Given the description of an element on the screen output the (x, y) to click on. 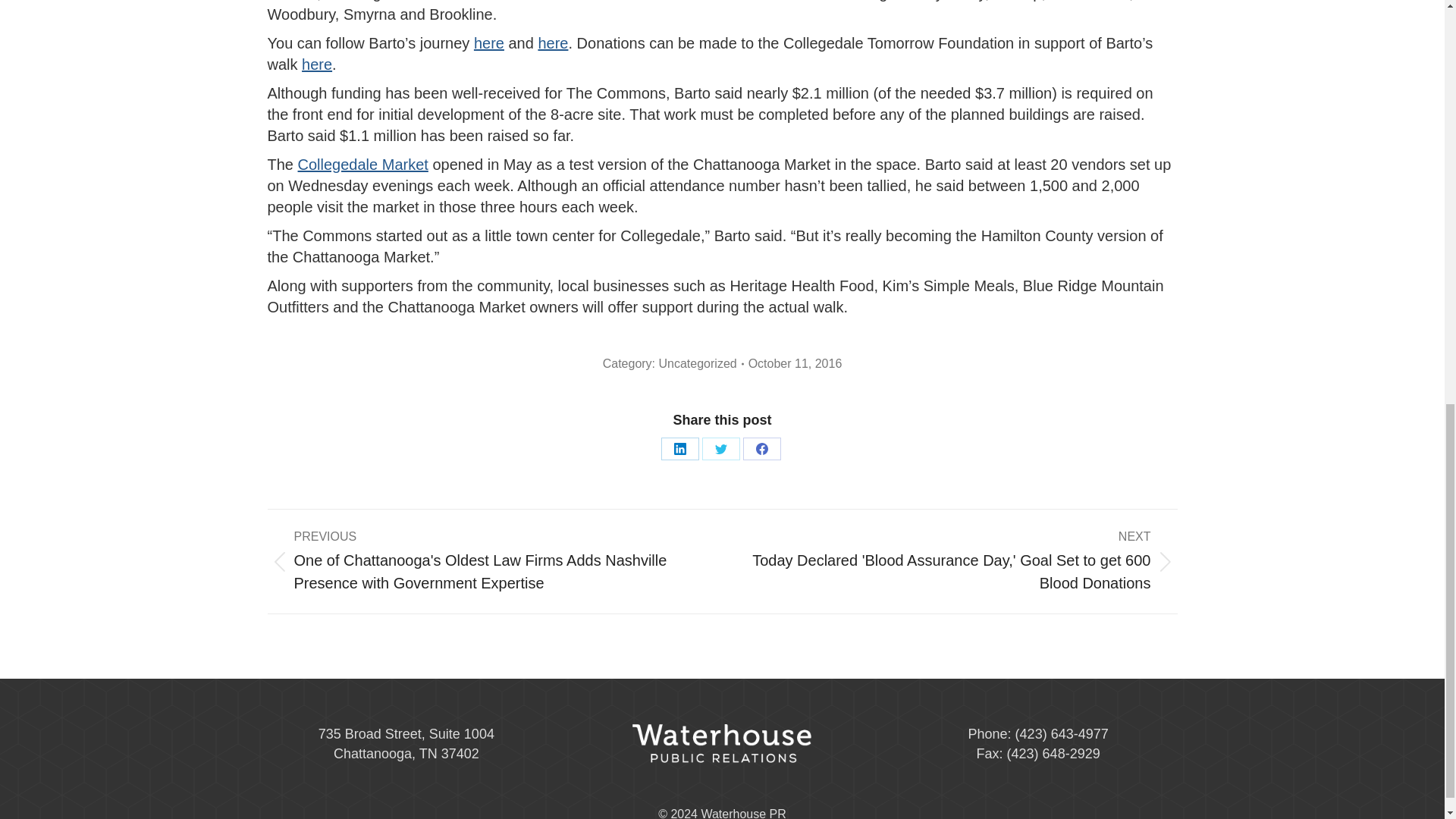
Share on LinkedIn (679, 448)
Share on Twitter (720, 448)
10:52 am (795, 363)
Collegedale Market (363, 164)
LinkedIn (679, 448)
Facebook (761, 448)
here (552, 43)
here (488, 43)
Twitter (720, 448)
October 11, 2016 (795, 363)
Uncategorized (697, 363)
here (316, 64)
